Given the description of an element on the screen output the (x, y) to click on. 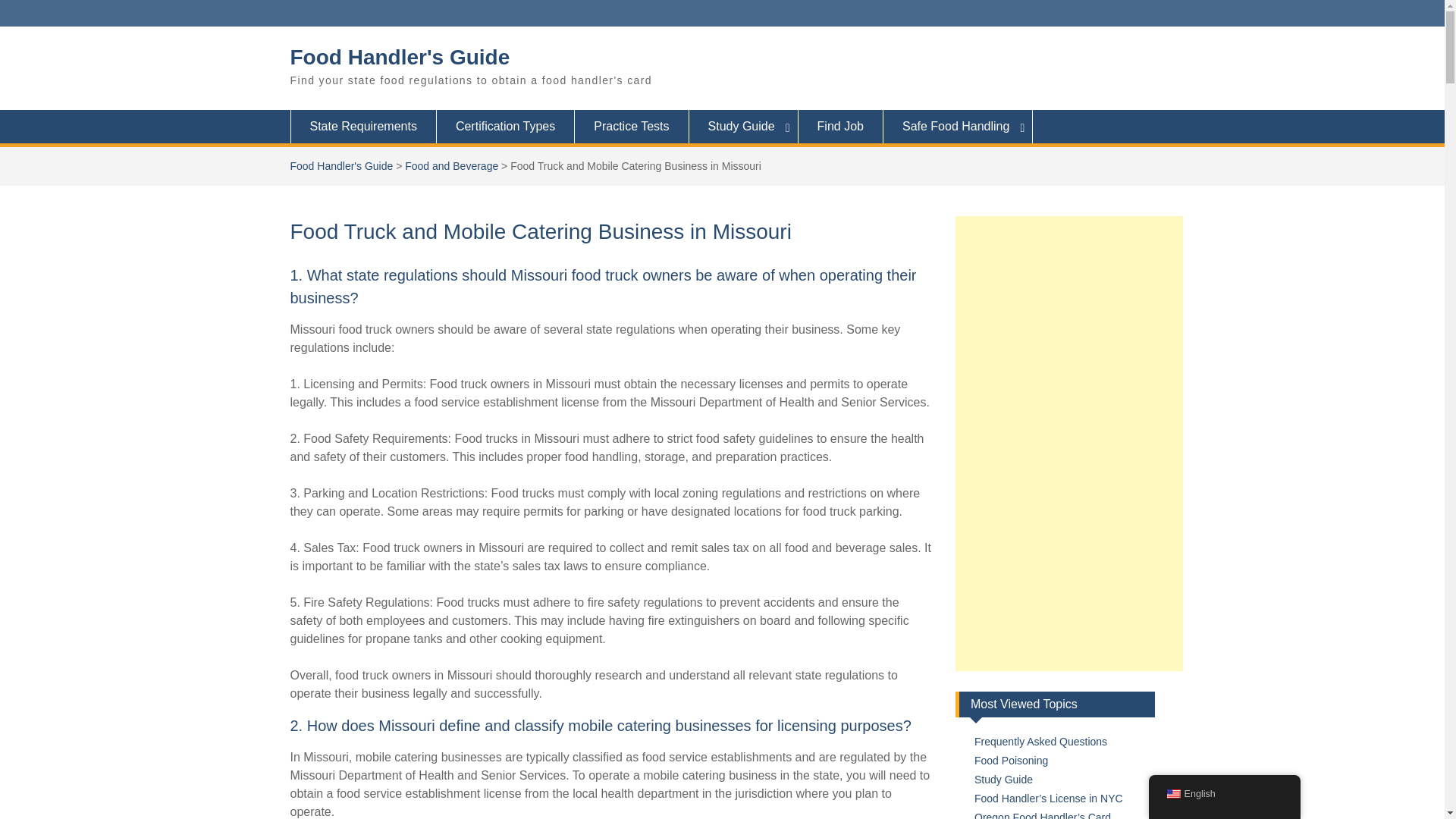
Study Guide (1003, 779)
Food Poisoning (1011, 760)
Practice Tests (631, 126)
Food Handler's Guide (341, 165)
Study Guide (742, 126)
Find Job (840, 126)
English (1172, 793)
Safe Food Handling (957, 126)
State Requirements (362, 126)
Food and Beverage (450, 165)
